Given the description of an element on the screen output the (x, y) to click on. 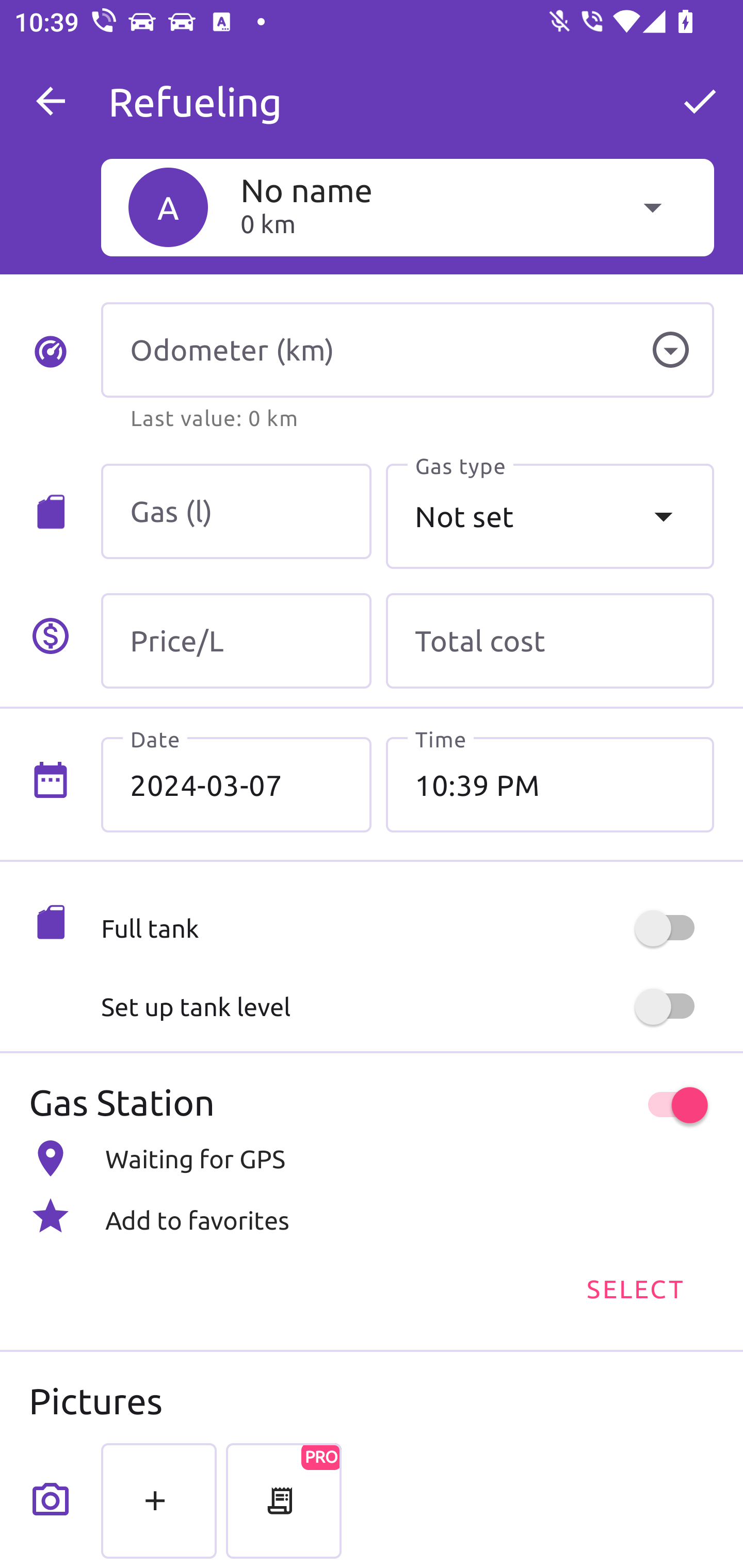
Navigate up (50, 101)
OK (699, 101)
A No name 0 km (407, 206)
Odometer (km) (407, 350)
Odometer (670, 349)
Gas (l) (236, 511)
Not set (549, 516)
Price/L (236, 640)
Total cost  (549, 640)
2024-03-07 (236, 784)
10:39 PM (549, 784)
Full tank (407, 928)
Set up tank level (407, 1006)
Add to favorites (371, 1215)
SELECT (634, 1287)
